Given the description of an element on the screen output the (x, y) to click on. 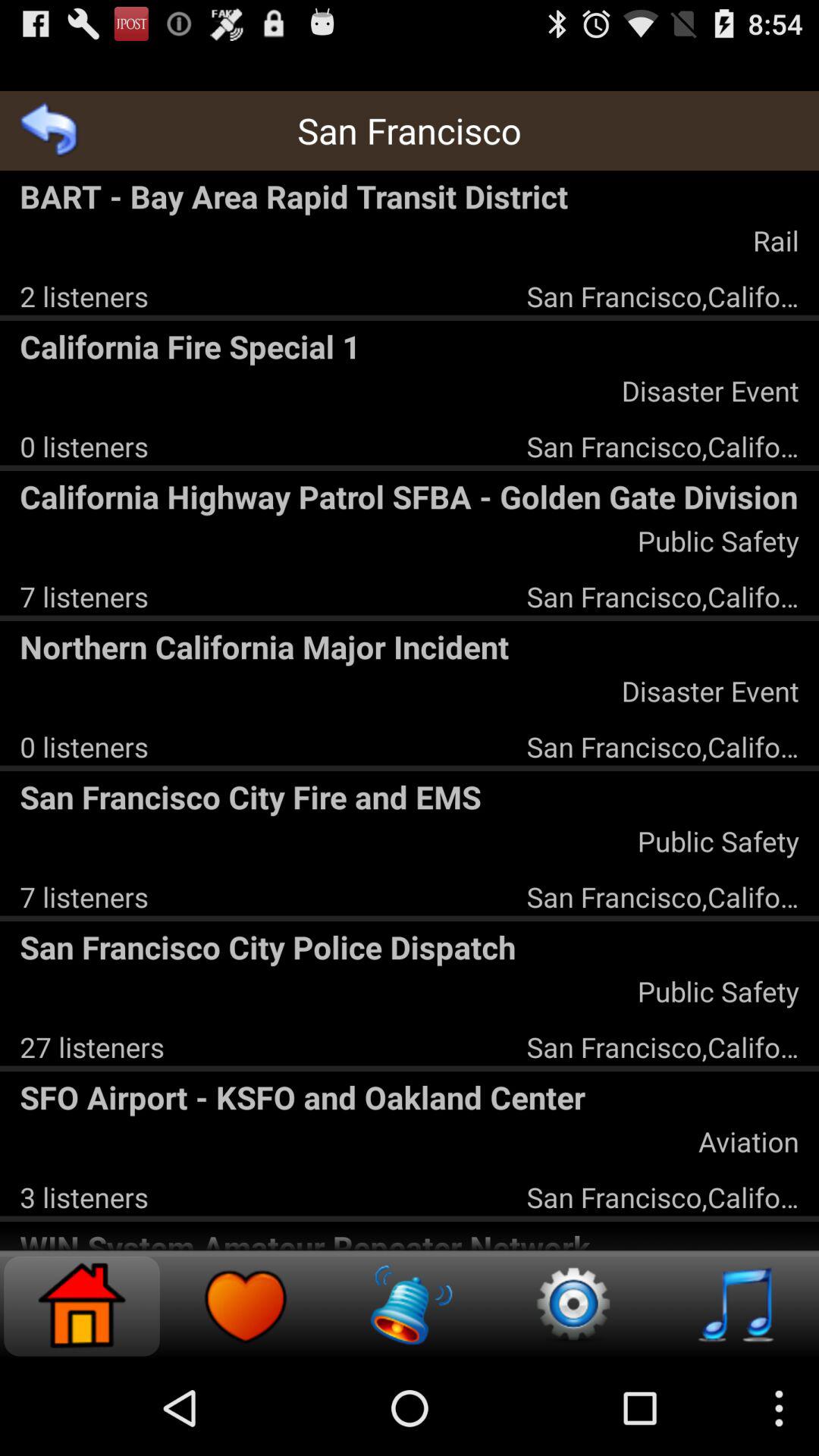
turn on the icon below the 0 listeners icon (409, 496)
